Given the description of an element on the screen output the (x, y) to click on. 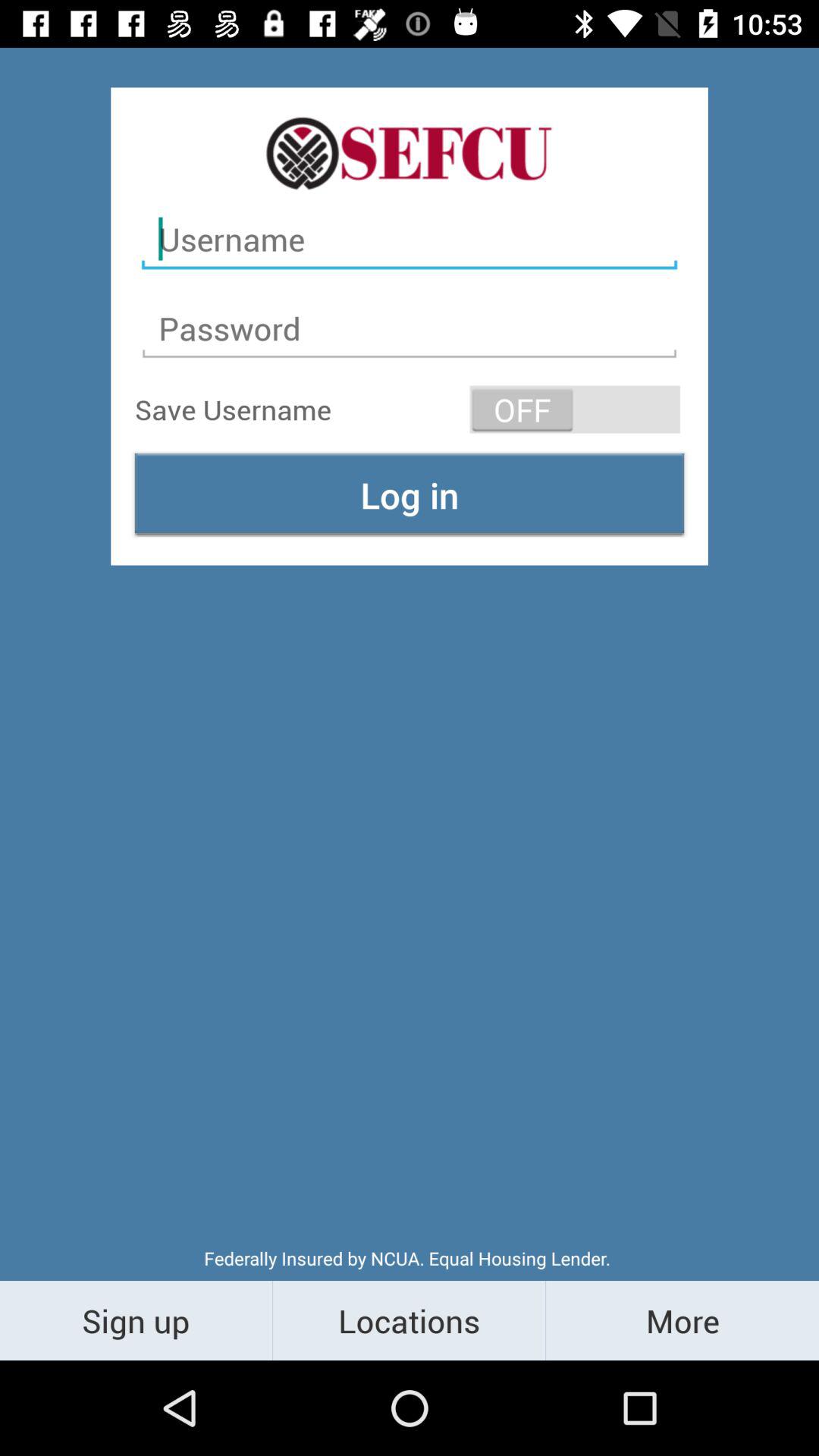
launch icon below federally insured by icon (682, 1320)
